Given the description of an element on the screen output the (x, y) to click on. 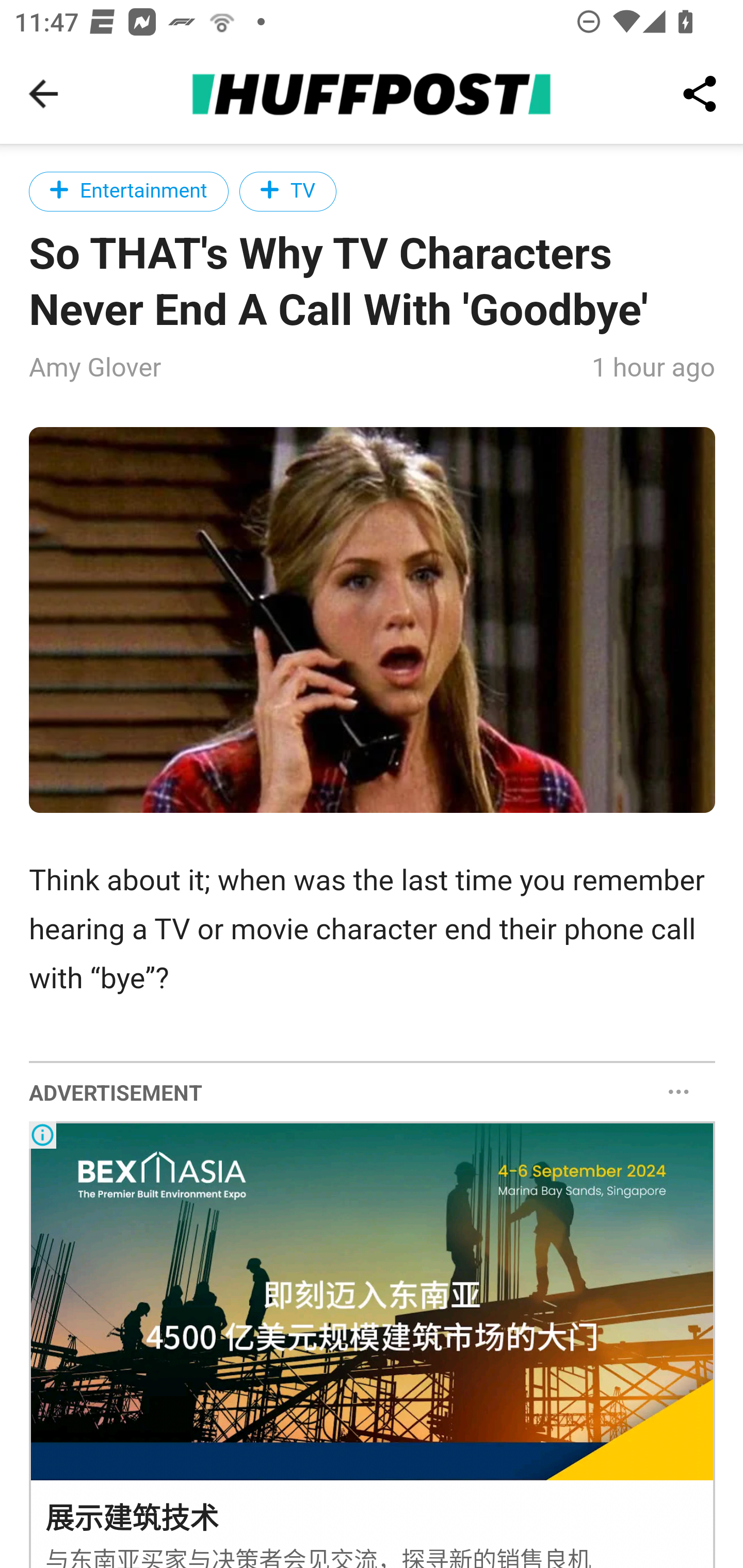
Entertainment (128, 191)
TV (287, 191)
